Given the description of an element on the screen output the (x, y) to click on. 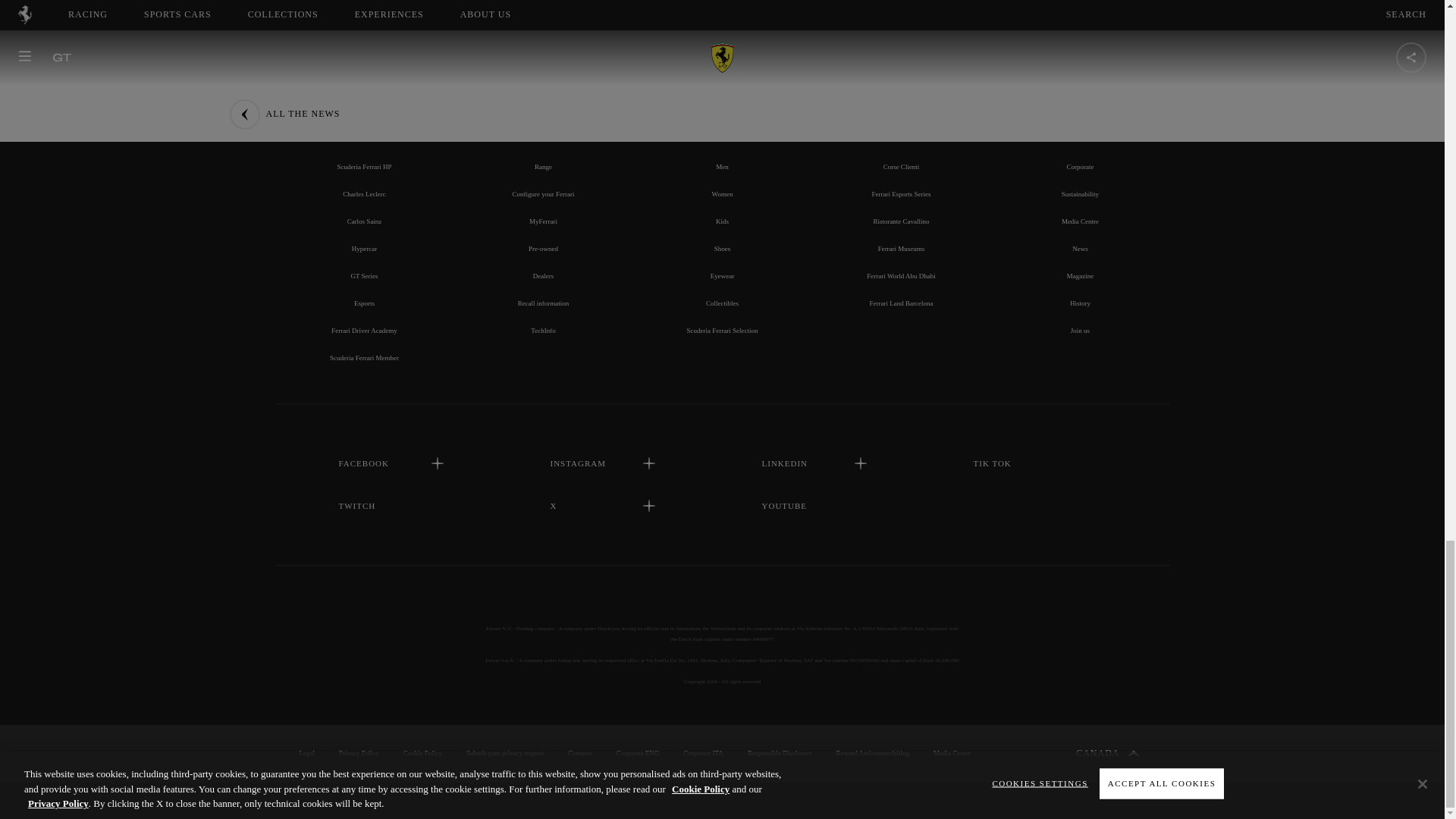
RACING (363, 133)
TechInfo (542, 330)
SUBSCRIBE (721, 7)
Recall information (543, 303)
Men (722, 166)
Configure your Ferrari (543, 194)
MyFerrari (543, 221)
Range (542, 166)
Esports (363, 303)
Scuderia Ferrari Member (364, 357)
Dealers (542, 275)
COLLECTIONS (721, 133)
Charles Leclerc (363, 194)
Change country (1106, 753)
Hypercar (364, 248)
